Given the description of an element on the screen output the (x, y) to click on. 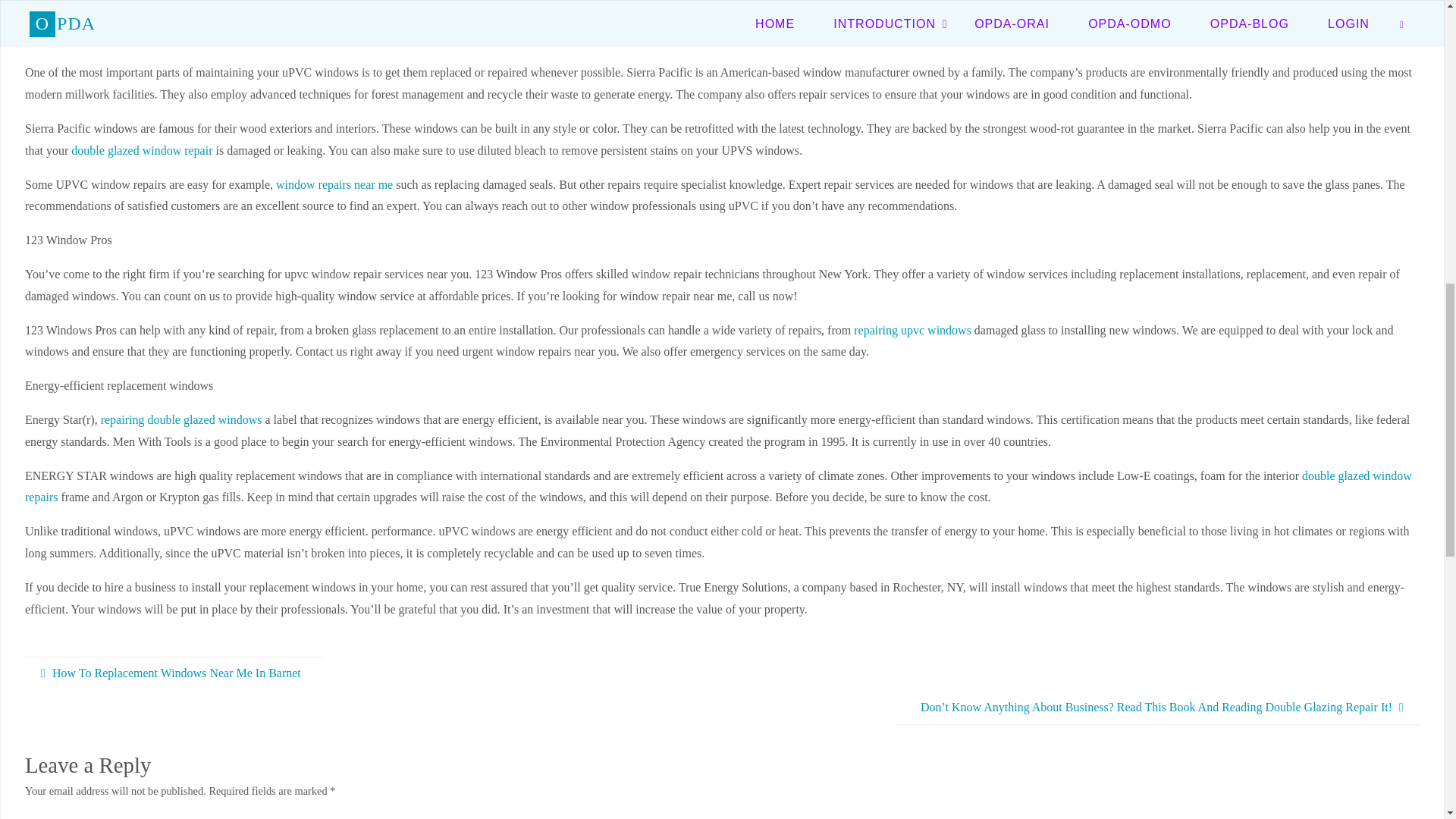
double glazing window repairs (986, 38)
double glazed window repair (141, 150)
repairing upvc windows (912, 329)
repairing double glazed windows (181, 419)
double glazed window repairs (718, 486)
window repairs near me (334, 184)
